Given the description of an element on the screen output the (x, y) to click on. 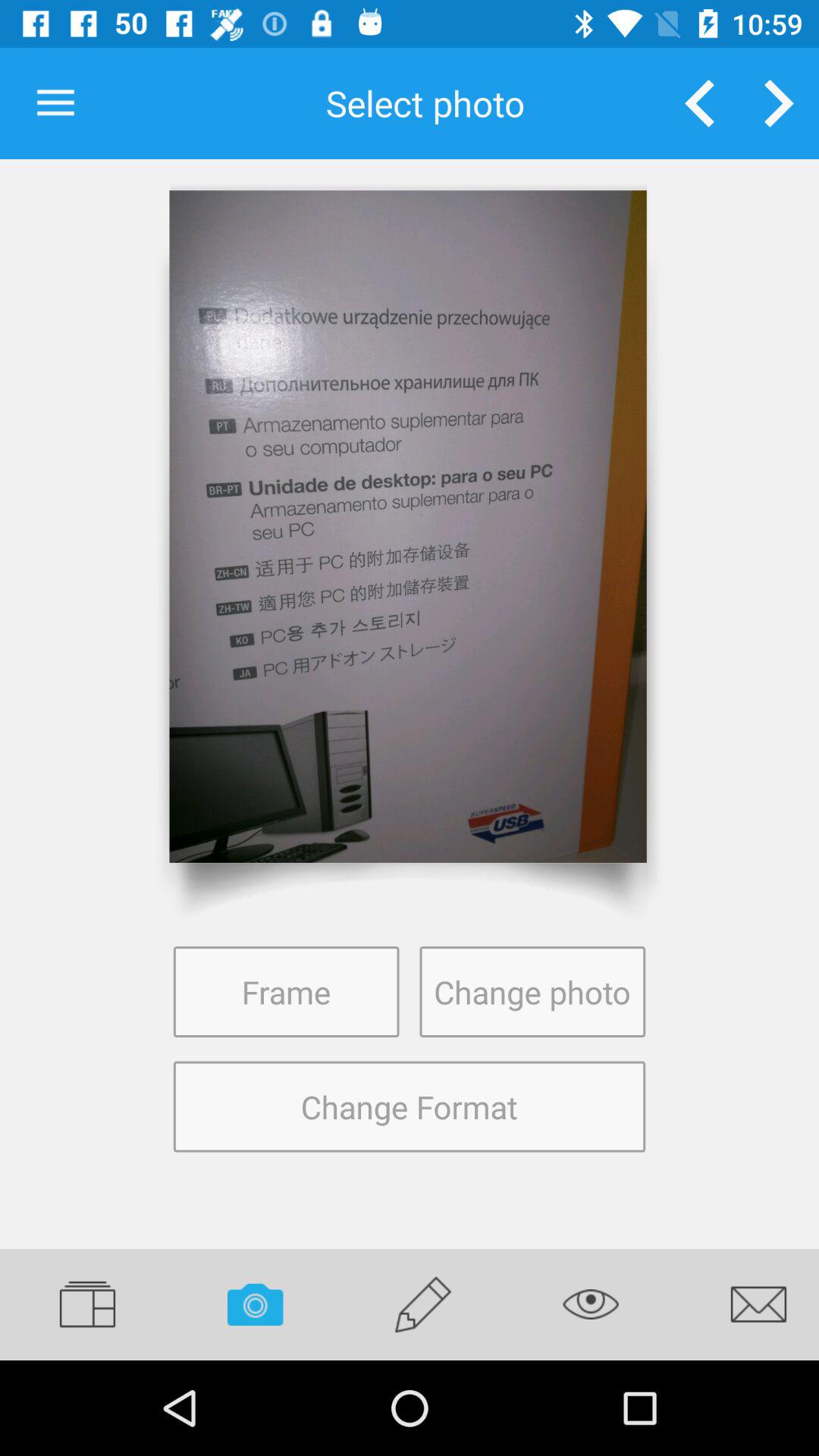
press icon next to the select photo icon (55, 103)
